Given the description of an element on the screen output the (x, y) to click on. 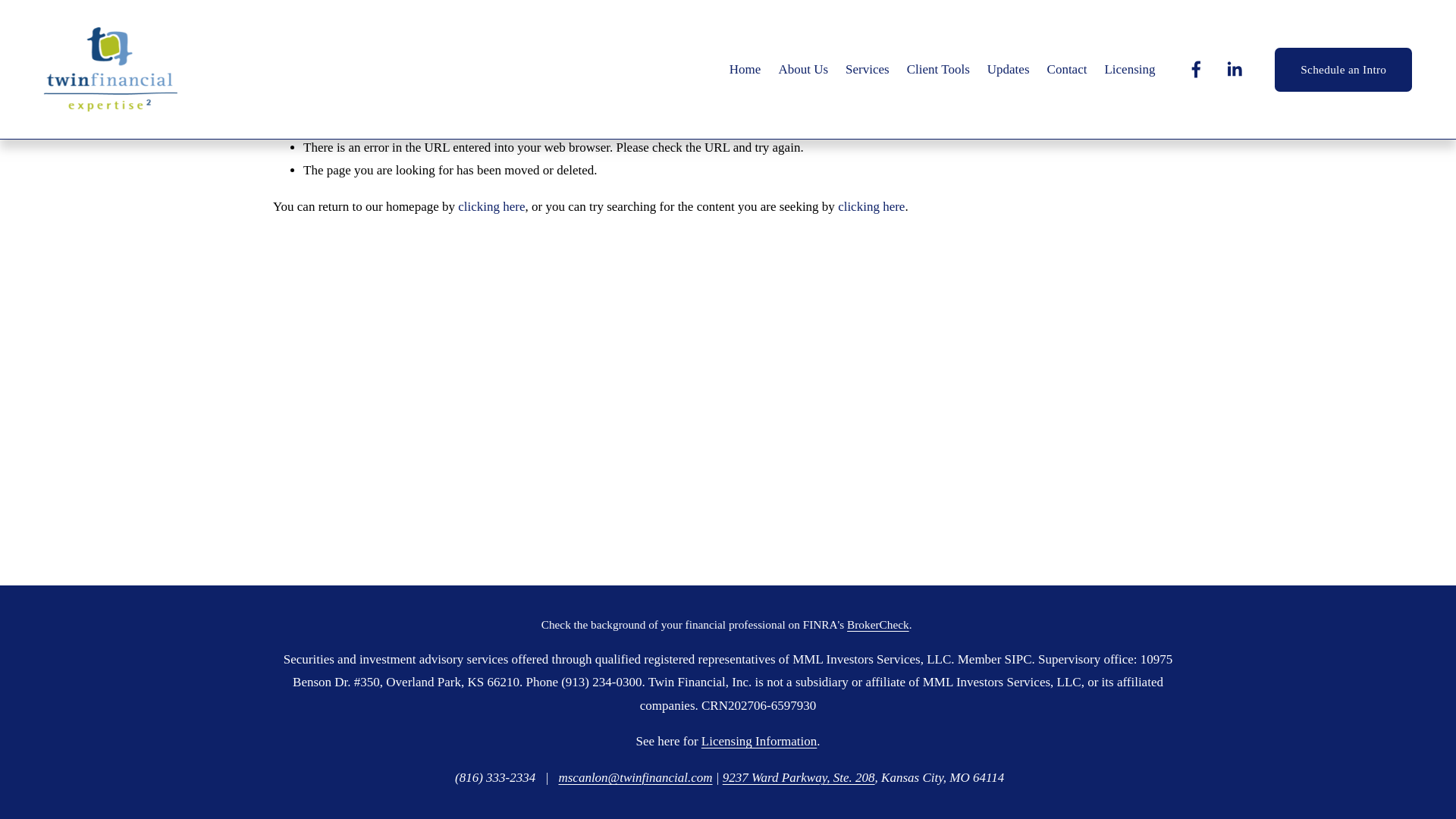
Contact (1066, 69)
Schedule an Intro (1343, 69)
Updates (1008, 69)
Home (745, 69)
Licensing (1128, 69)
Client Tools (938, 69)
About Us (802, 69)
Services (867, 69)
